Given the description of an element on the screen output the (x, y) to click on. 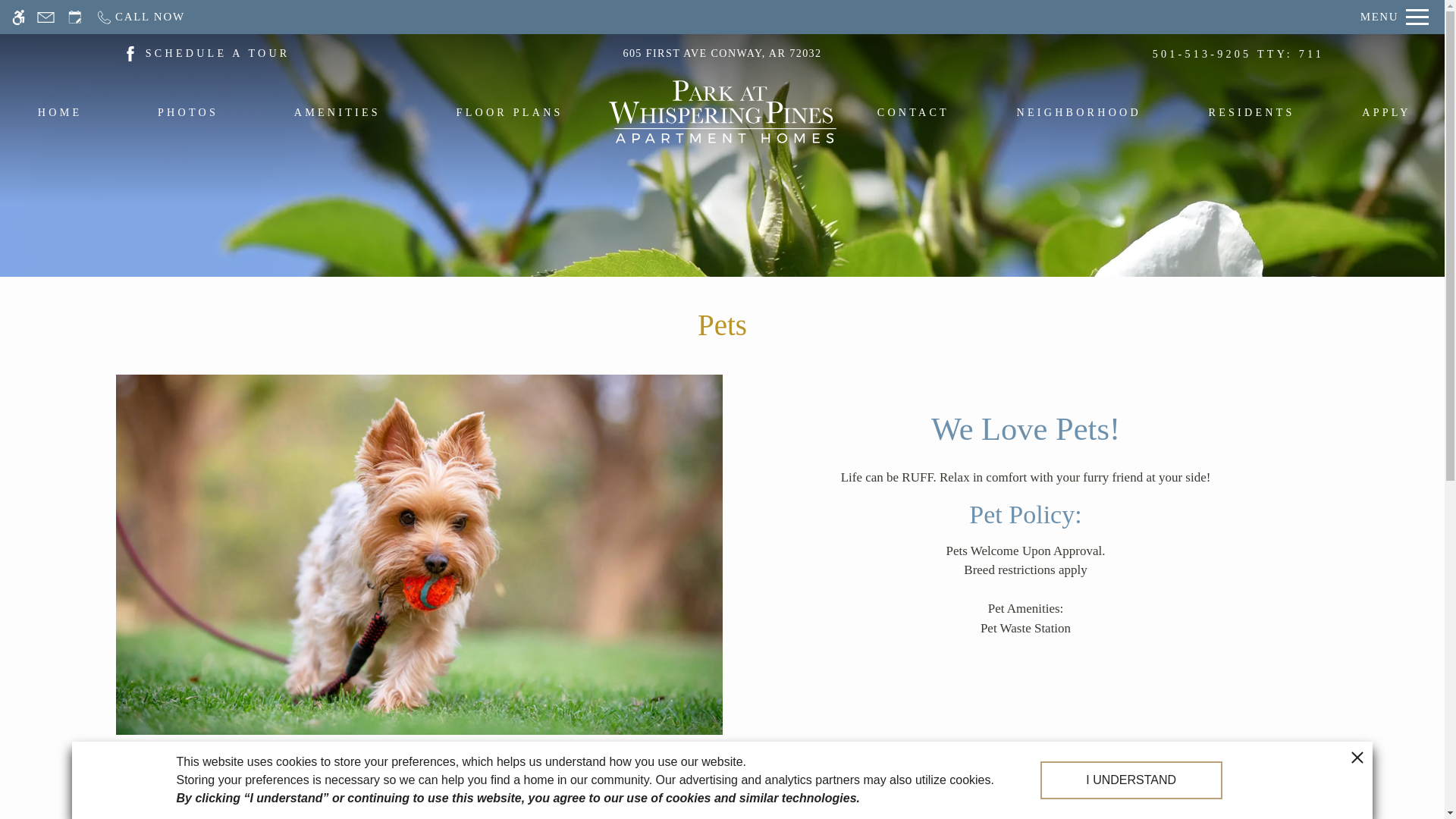
SCHEDULE A TOUR (217, 52)
CONTACT (913, 116)
PHOTOS (187, 116)
Call now (140, 17)
AMENITIES (337, 116)
501-513-9205 TTY: 711 (1238, 57)
FLOOR PLANS (510, 116)
Accessible screen reader (18, 17)
RESIDENTS (1251, 116)
